Given the description of an element on the screen output the (x, y) to click on. 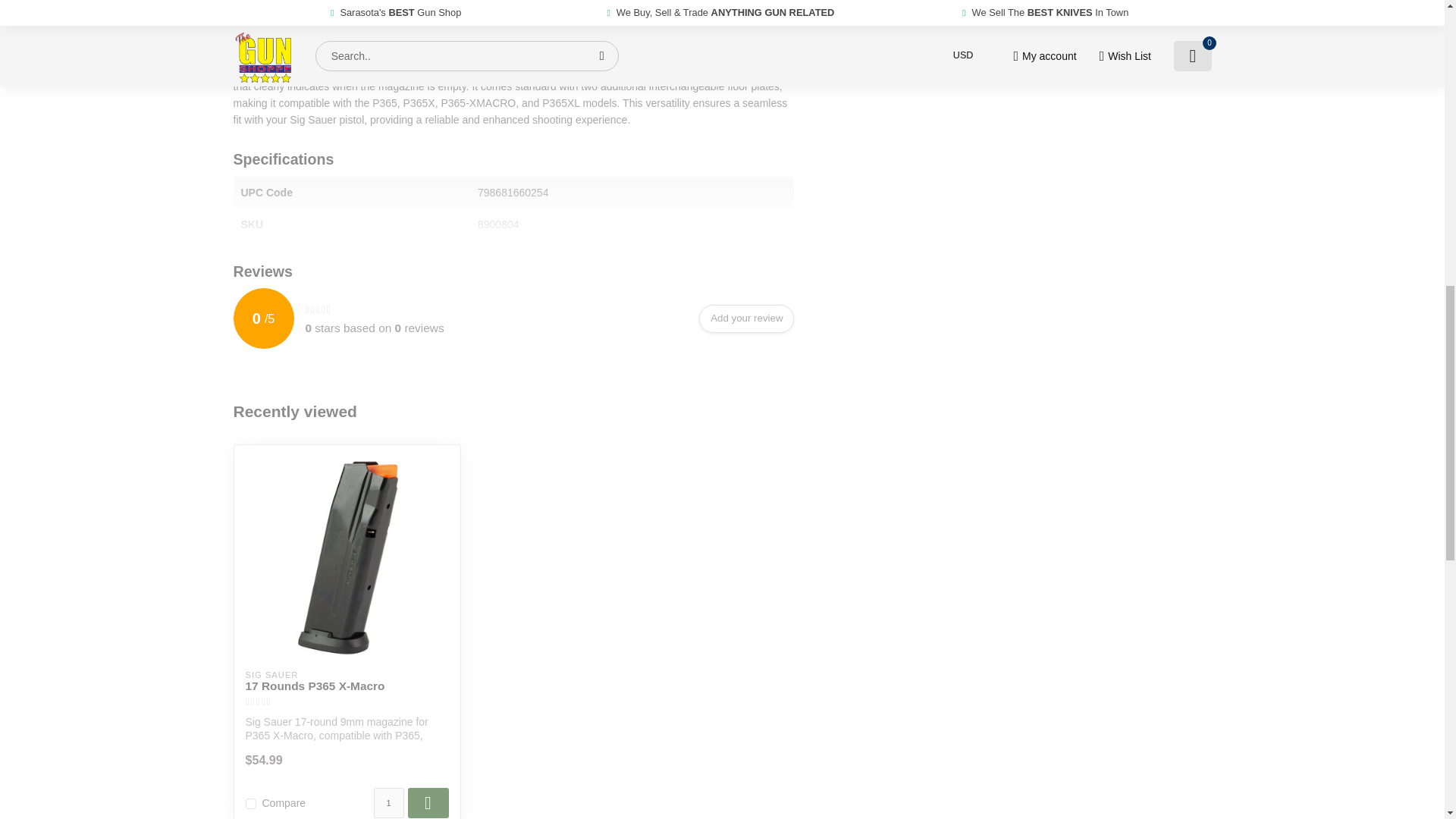
Sig Sauer 17 Rounds P365 X-Macro (347, 558)
Sig Sauer 17 Rounds P365 X-Macro (347, 685)
1 (387, 802)
